Given the description of an element on the screen output the (x, y) to click on. 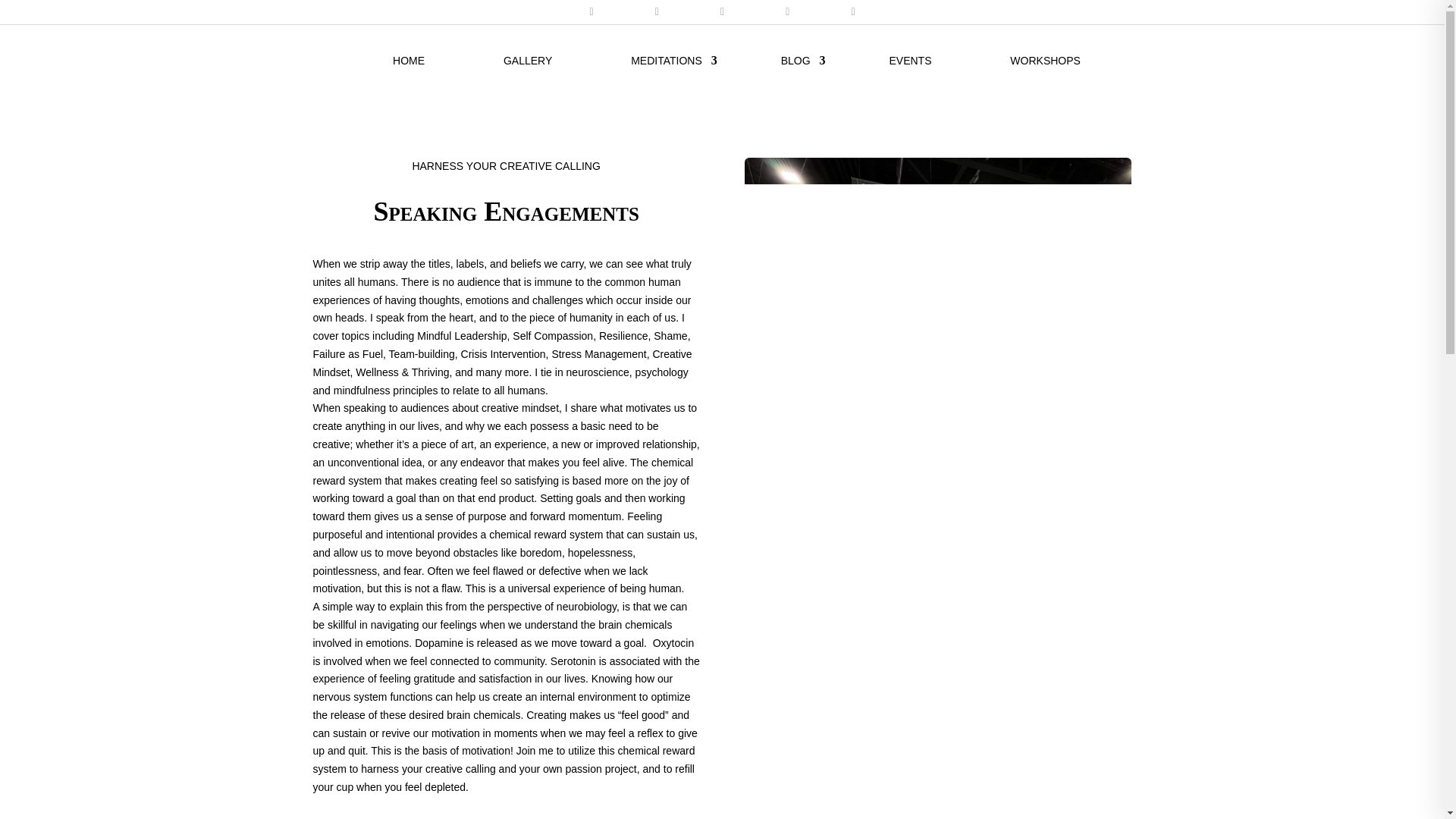
MEDITATIONS (665, 75)
GALLERY (527, 75)
EVENTS (909, 75)
BLOG (795, 75)
HOME (409, 75)
